Given the description of an element on the screen output the (x, y) to click on. 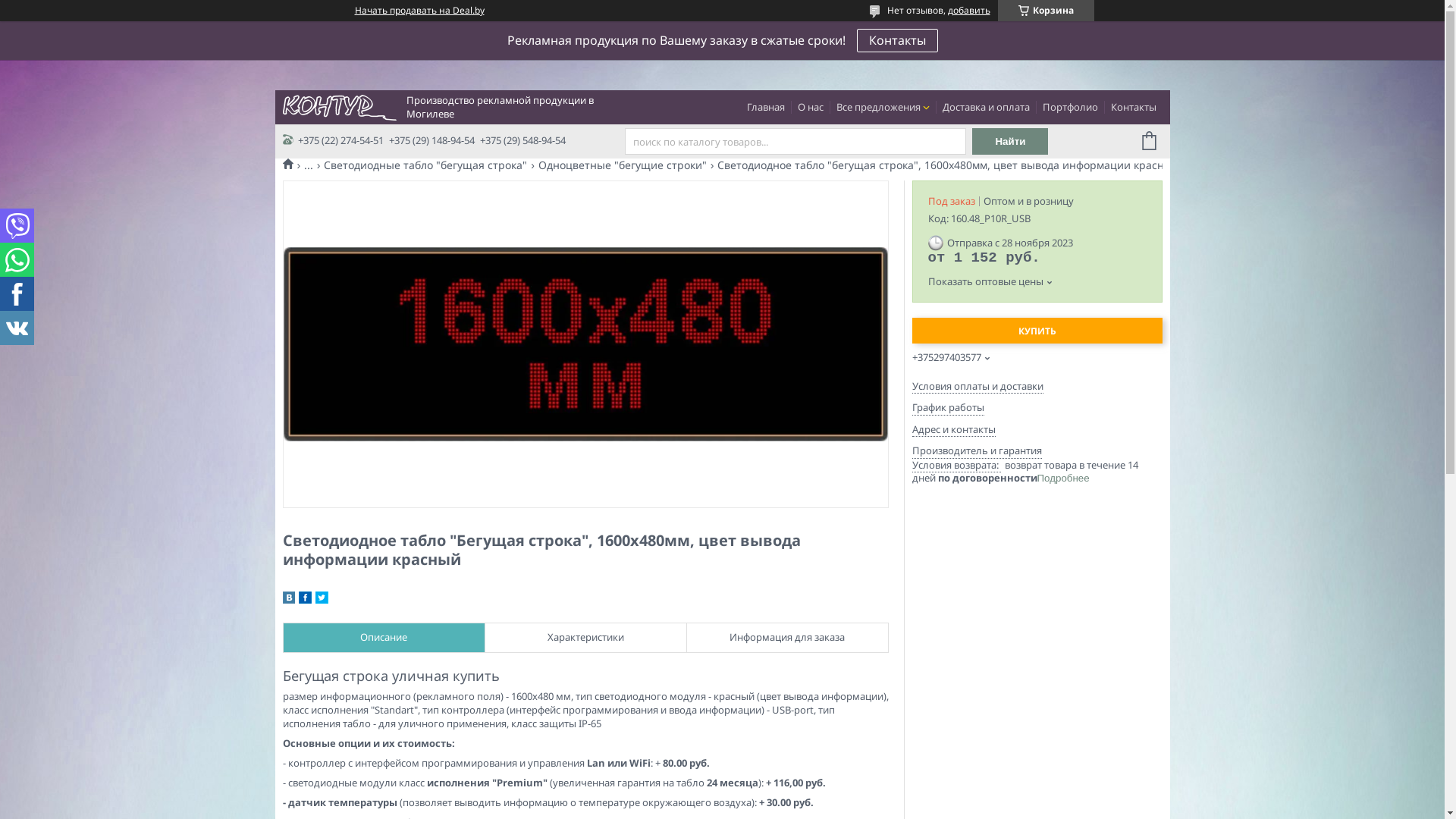
facebook Element type: hover (304, 599)
twitter Element type: hover (321, 599)
